Given the description of an element on the screen output the (x, y) to click on. 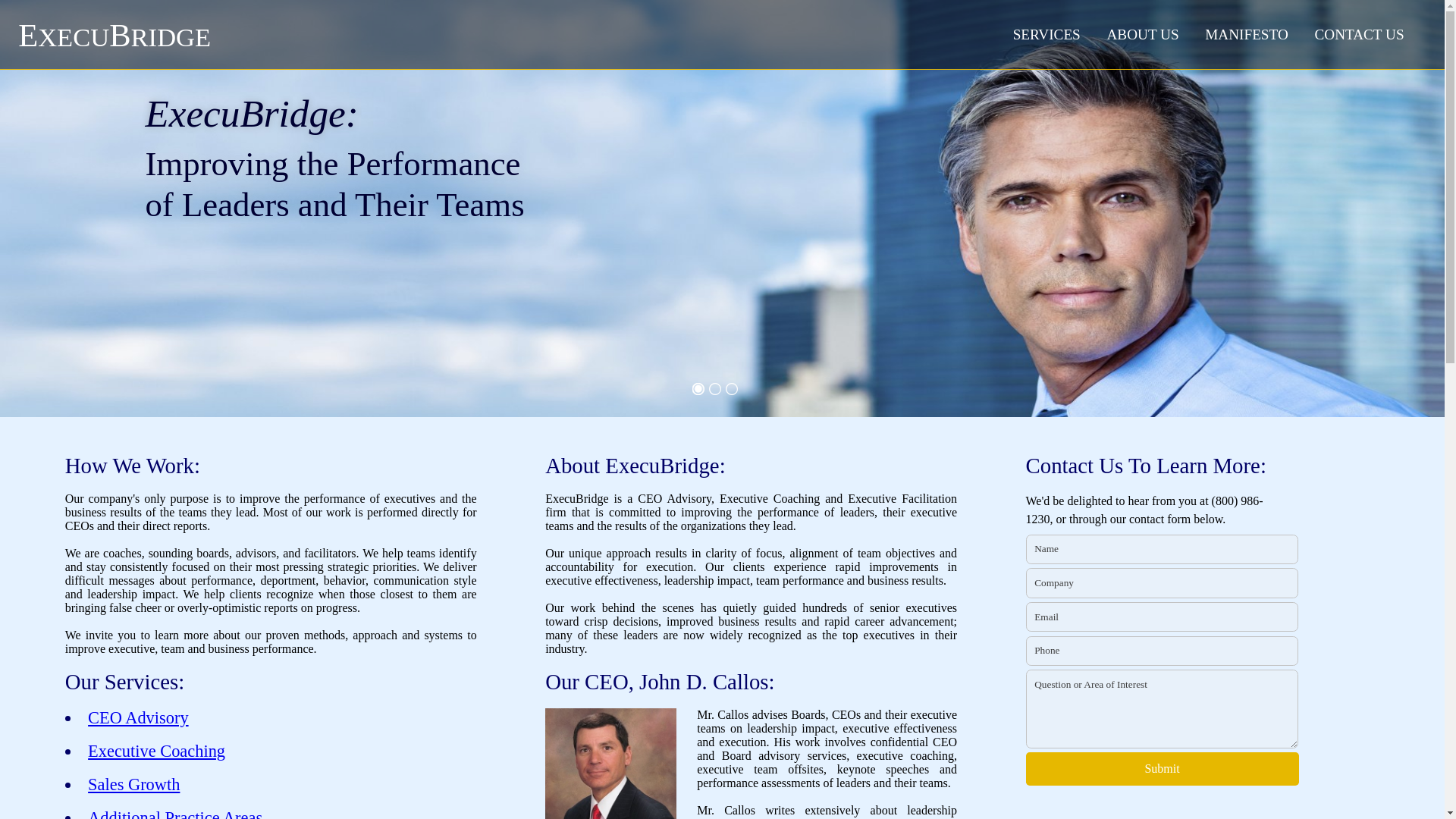
Email (1162, 616)
EXECUBRIDGE (114, 36)
Executive Coaching (156, 751)
CEO Advisory (138, 717)
Contact Us To Learn More: (1146, 465)
Additional Practice Areas (174, 813)
ABOUT US (1142, 34)
SERVICES (1046, 34)
About ExecuBridge: (634, 465)
Submit (1162, 768)
Company (1162, 582)
Name (1162, 549)
Sales Growth (133, 783)
